Given the description of an element on the screen output the (x, y) to click on. 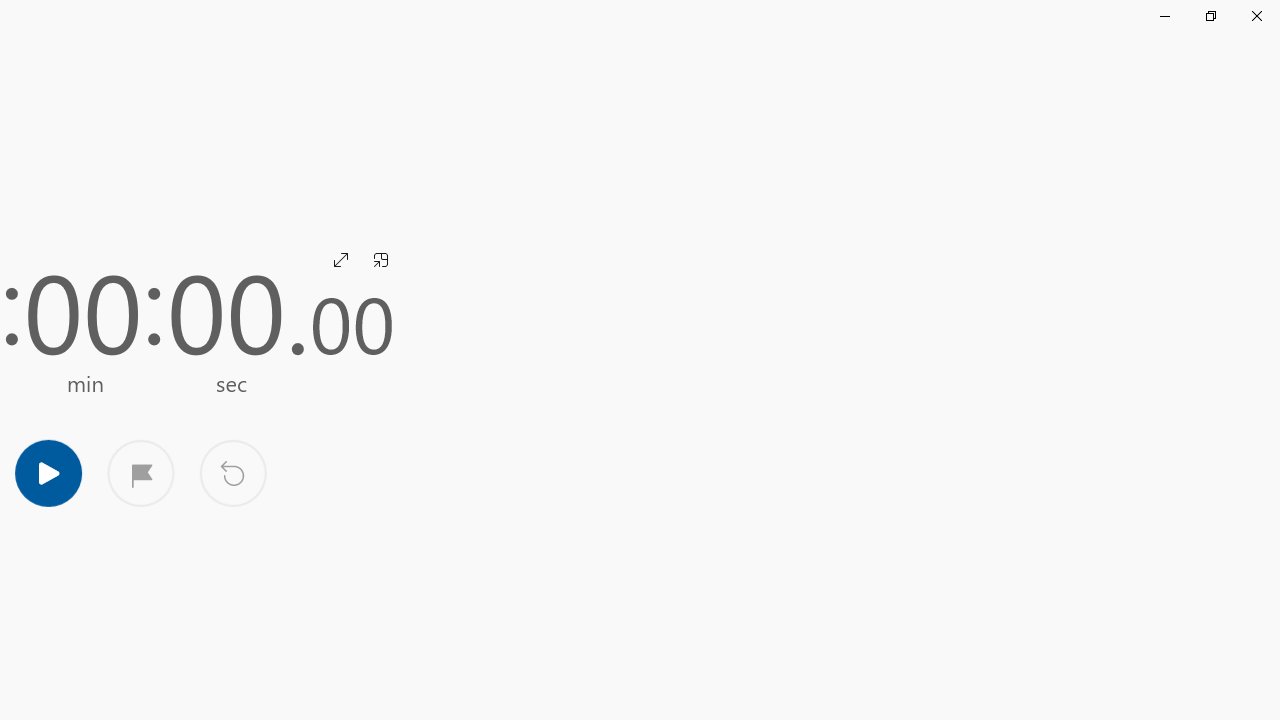
Expand (340, 259)
Start (48, 472)
Close Clock (1256, 15)
Laps and Splits (140, 472)
Reset (232, 472)
Keep on top (380, 259)
Restore Clock (1210, 15)
Minimize Clock (1164, 15)
